Given the description of an element on the screen output the (x, y) to click on. 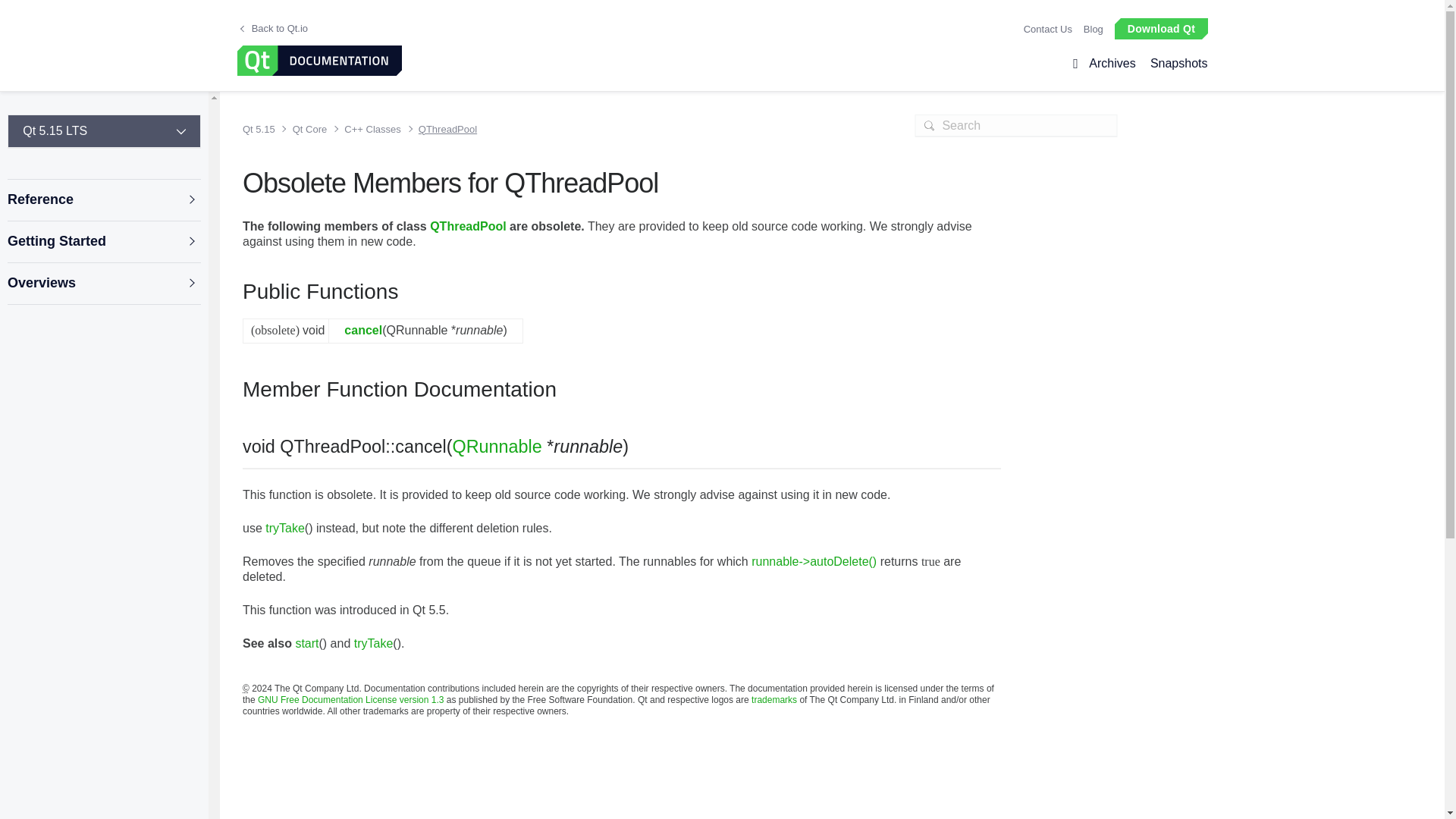
QThreadPool (467, 226)
Archives (1111, 63)
Download Qt (1160, 27)
Reference (103, 199)
Back to Qt.io (273, 28)
Getting Started (103, 241)
Qt 5.15 (262, 129)
Snapshots (1174, 63)
Qt Core (307, 129)
Blog (1093, 28)
QRunnable (496, 446)
QThreadPool (442, 129)
Contact Us (1047, 28)
cancel (362, 329)
Overviews (103, 283)
